Given the description of an element on the screen output the (x, y) to click on. 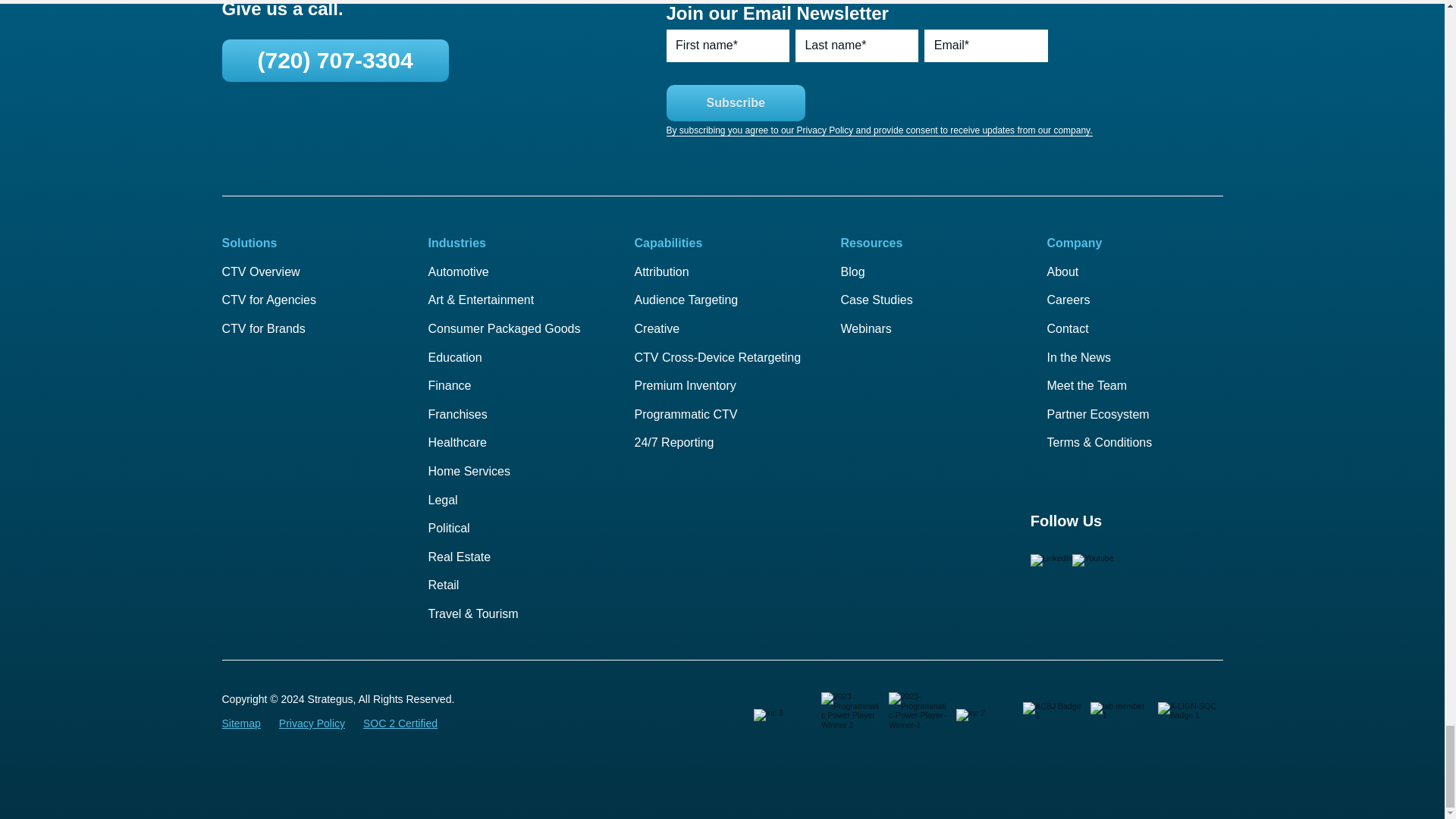
Subscribe (735, 103)
